Given the description of an element on the screen output the (x, y) to click on. 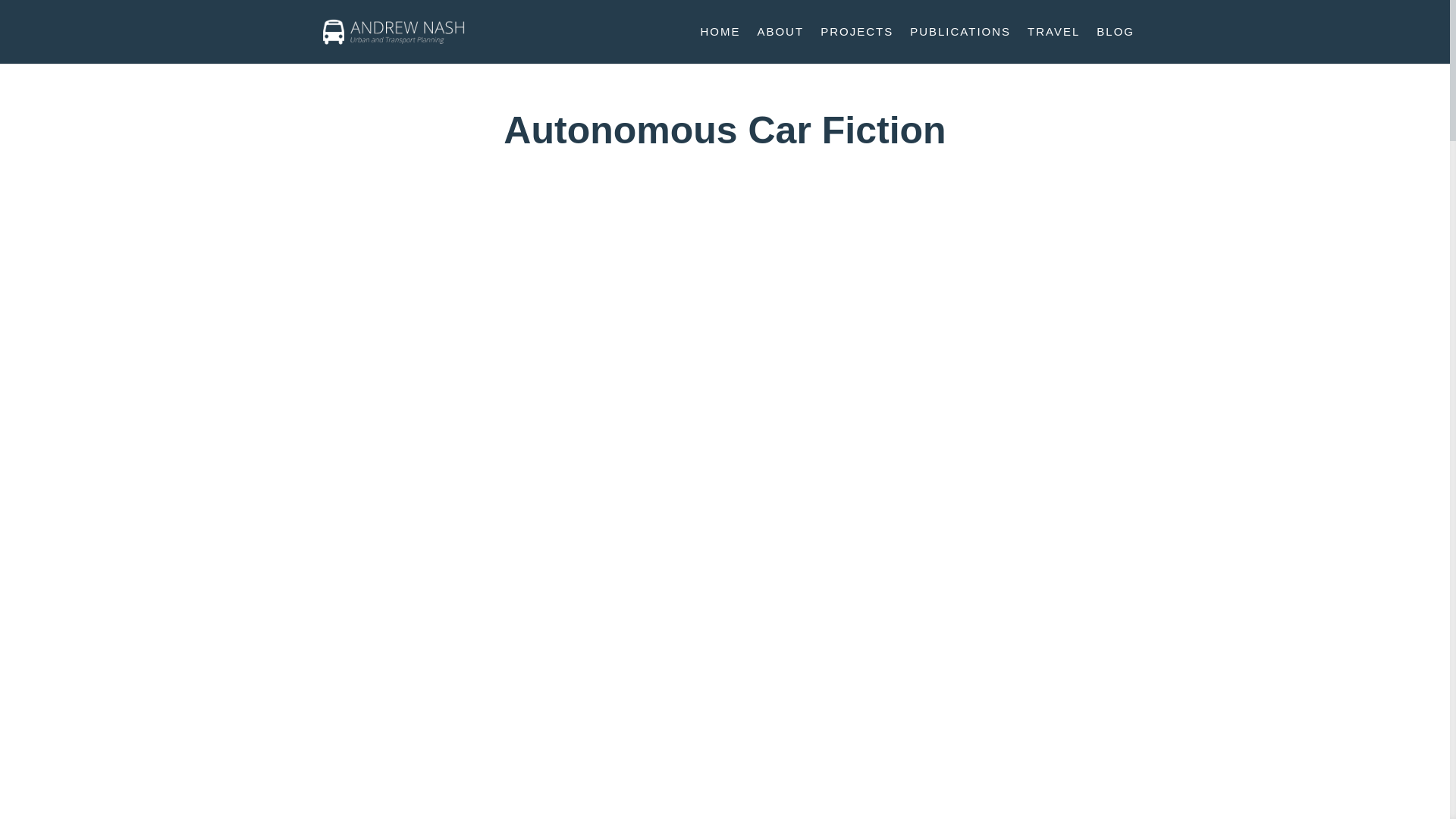
TRAVEL (1053, 44)
PUBLICATIONS (960, 44)
HOME (719, 44)
ABOUT (780, 44)
PROJECTS (857, 44)
BLOG (1115, 44)
